Given the description of an element on the screen output the (x, y) to click on. 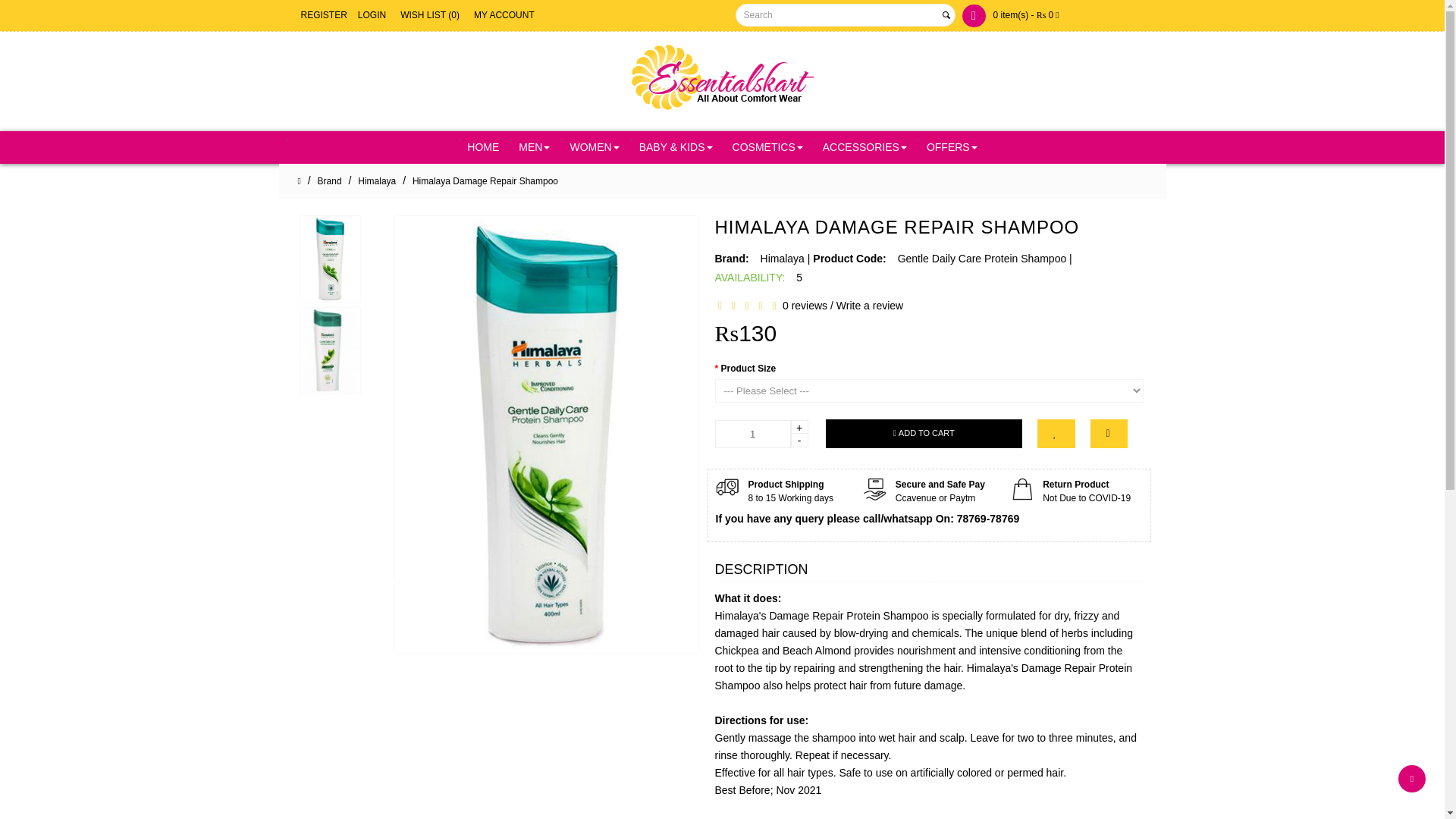
EssentialsKart (721, 78)
HOME (483, 147)
MY ACCOUNT (504, 14)
MEN (534, 147)
REGISTER (322, 14)
1 (752, 433)
WOMEN (593, 147)
LOGIN (371, 14)
